Given the description of an element on the screen output the (x, y) to click on. 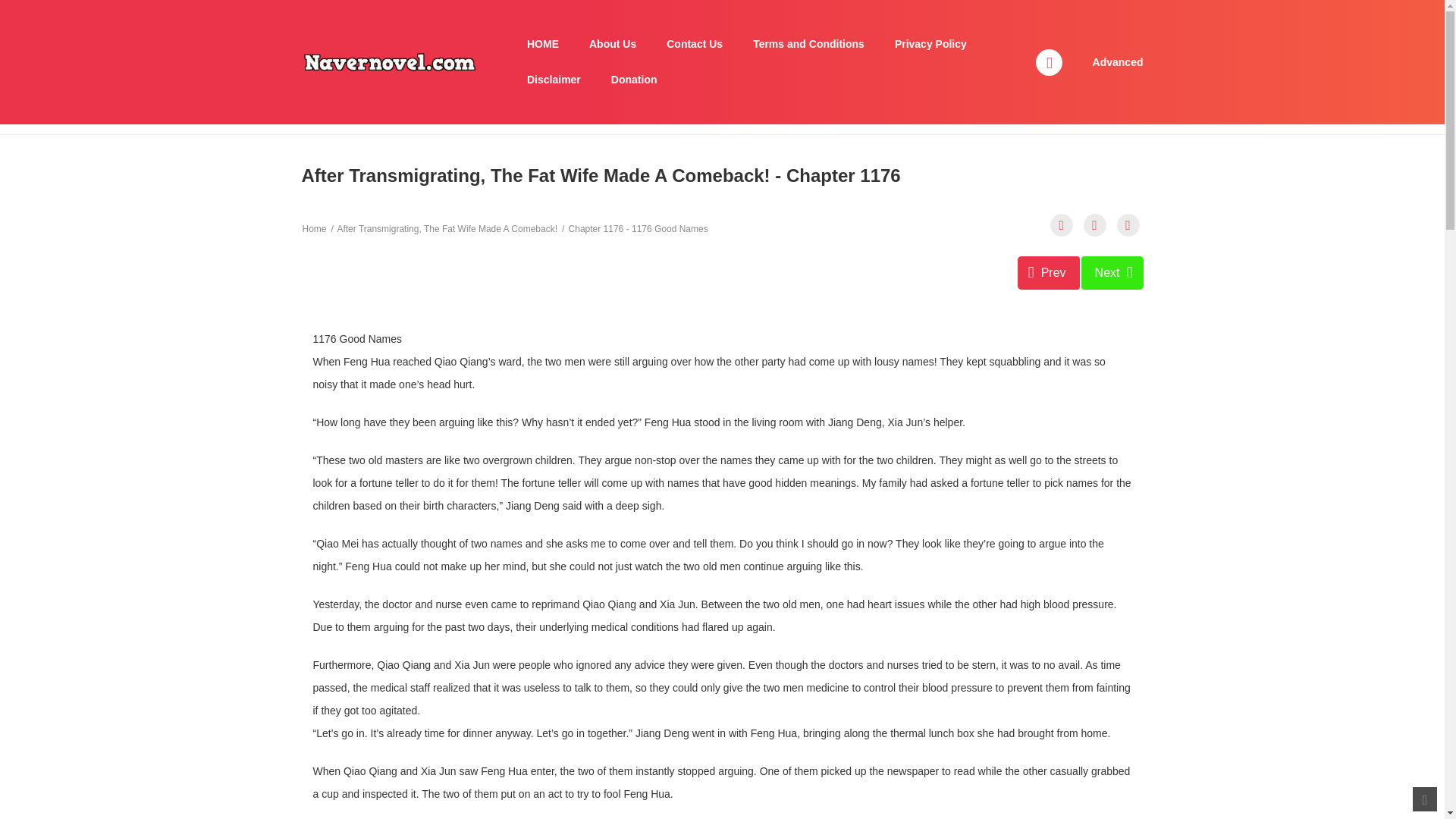
Search (970, 9)
Terms and Conditions (808, 44)
HOME (542, 44)
Disclaimer (553, 79)
Next (1111, 272)
Donation (633, 79)
After Transmigrating, The Fat Wife Made A Comeback! (446, 228)
Naver Novel (389, 61)
Home (313, 228)
About Us (611, 44)
Advanced (1117, 61)
Chapter 1177 (1111, 272)
Contact Us (694, 44)
Chapter 1175 (1048, 272)
Privacy Policy (930, 44)
